Given the description of an element on the screen output the (x, y) to click on. 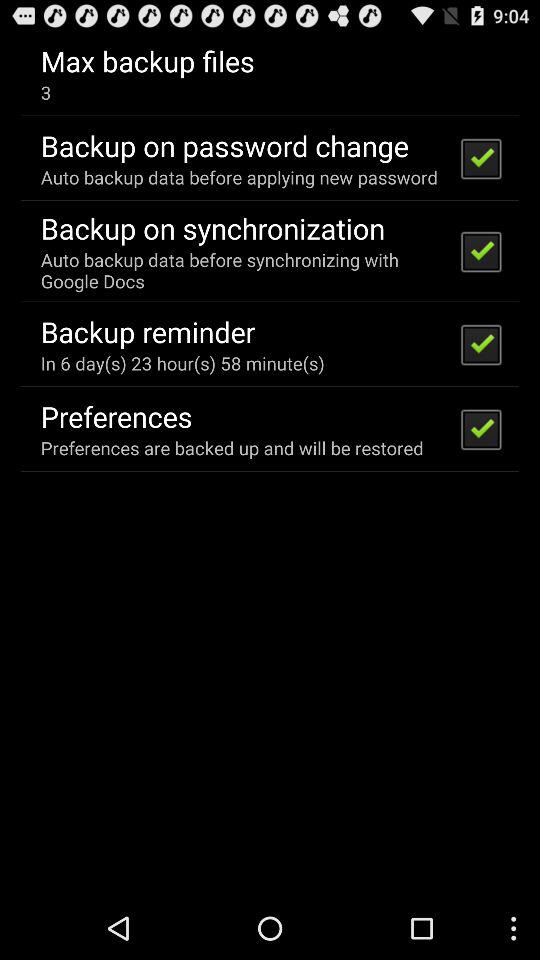
select the icon above the 3 (147, 60)
